Given the description of an element on the screen output the (x, y) to click on. 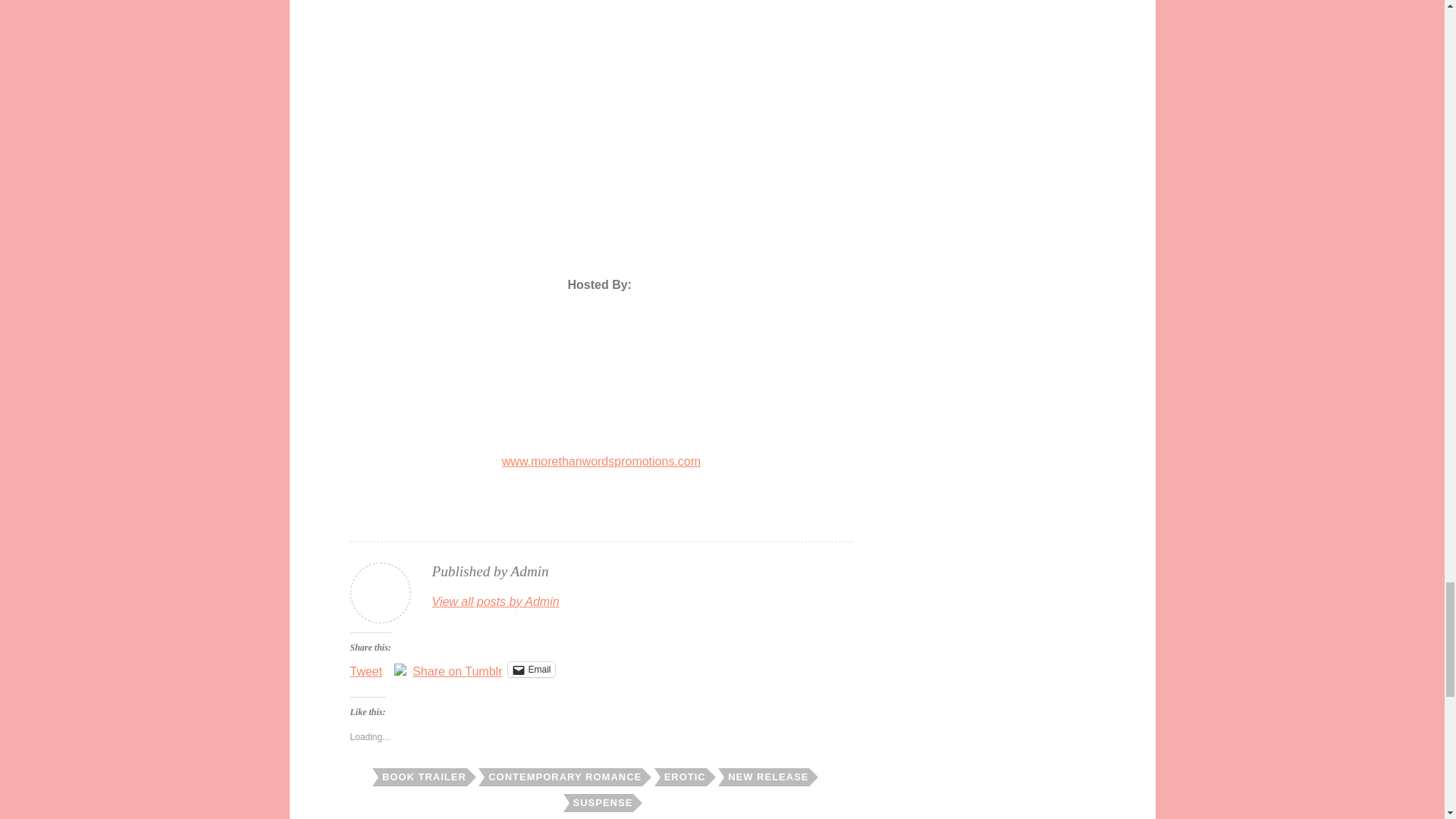
Click to email a link to a friend (531, 669)
Share on Tumblr (457, 668)
Tweet (366, 668)
www.morethanwordspromotions.com (601, 461)
Share on Tumblr (457, 668)
View all posts by Admin (495, 601)
